Given the description of an element on the screen output the (x, y) to click on. 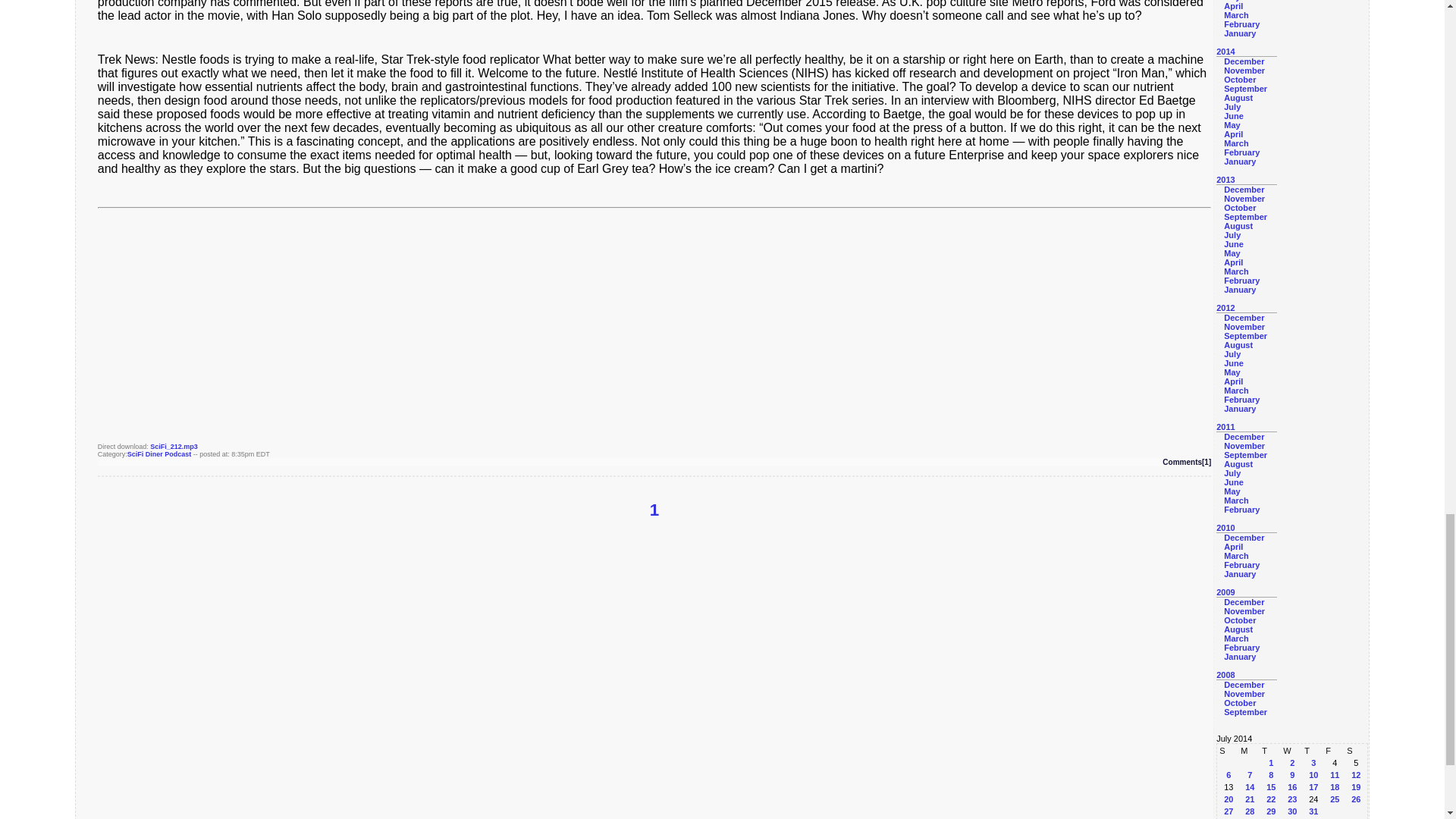
Saturday (1355, 750)
Sunday (1228, 750)
Tuesday (1270, 750)
Thursday (1313, 750)
Wednesday (1291, 750)
Friday (1333, 750)
Monday (1249, 750)
